Given the description of an element on the screen output the (x, y) to click on. 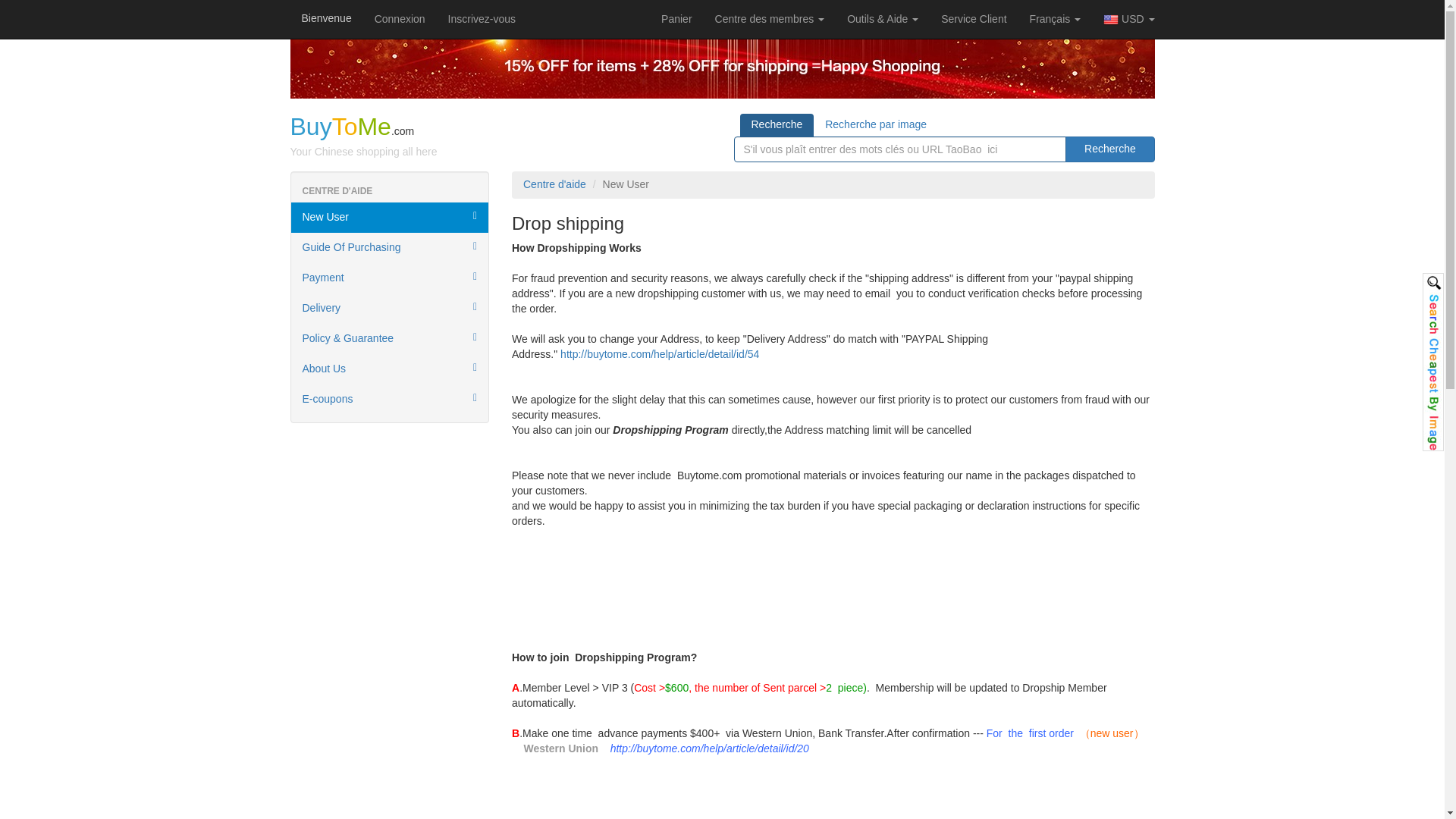
USD (1129, 19)
Service Client (973, 18)
Centre des membres (769, 18)
Inscrivez-vous (481, 18)
Connexion (399, 18)
Panier (676, 18)
